Given the description of an element on the screen output the (x, y) to click on. 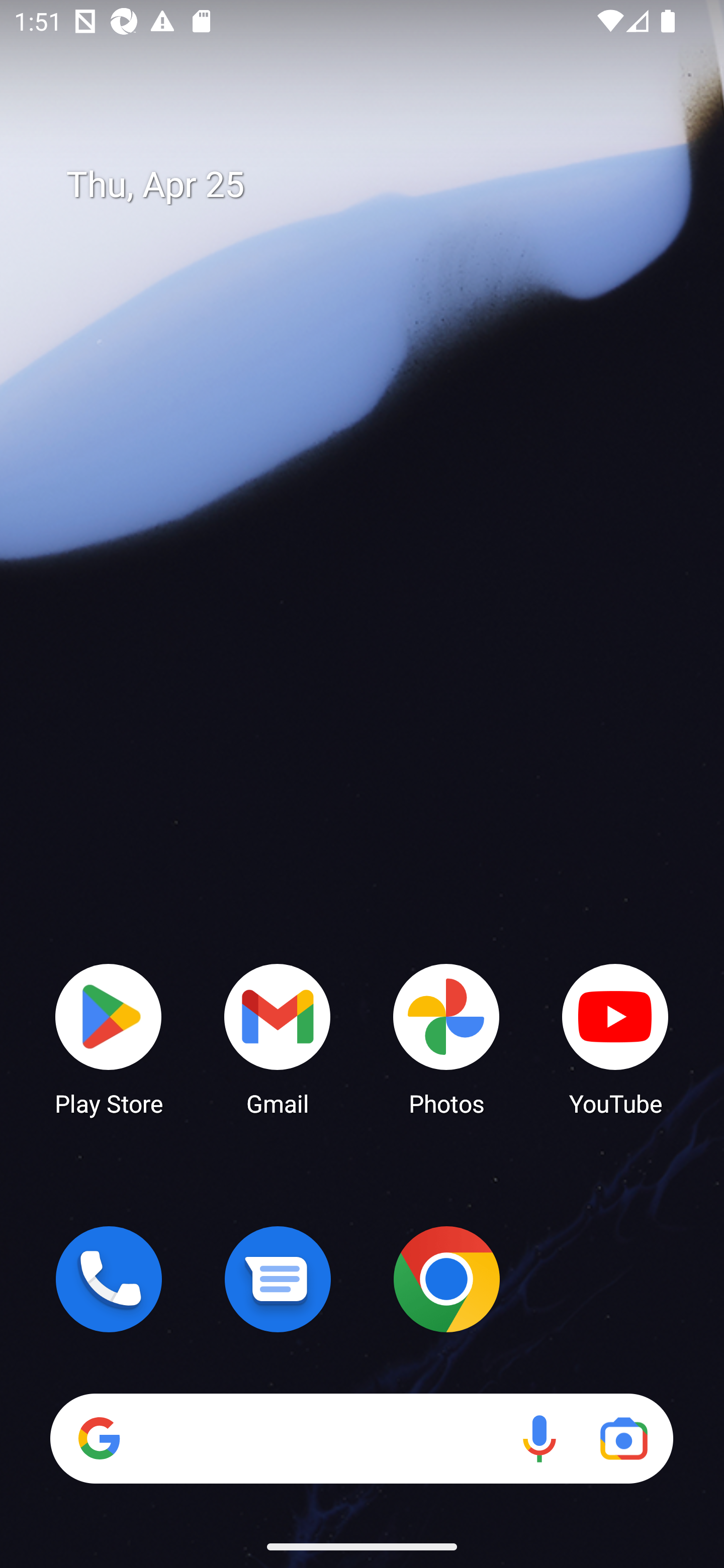
Thu, Apr 25 (375, 184)
Play Store (108, 1038)
Gmail (277, 1038)
Photos (445, 1038)
YouTube (615, 1038)
Phone (108, 1279)
Messages (277, 1279)
Chrome (446, 1279)
Search Voice search Google Lens (361, 1438)
Voice search (539, 1438)
Google Lens (623, 1438)
